Given the description of an element on the screen output the (x, y) to click on. 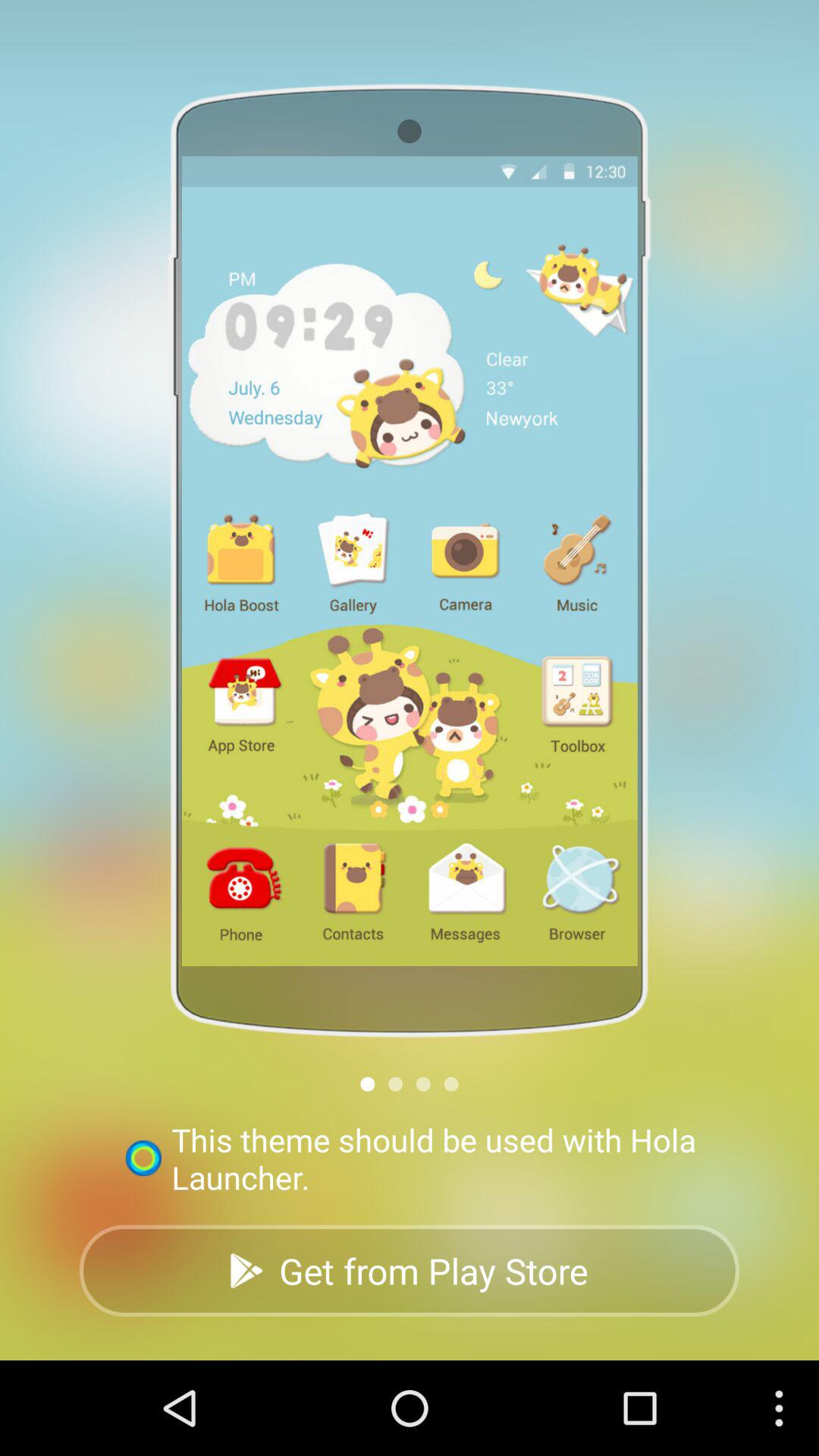
next image (395, 1084)
